Given the description of an element on the screen output the (x, y) to click on. 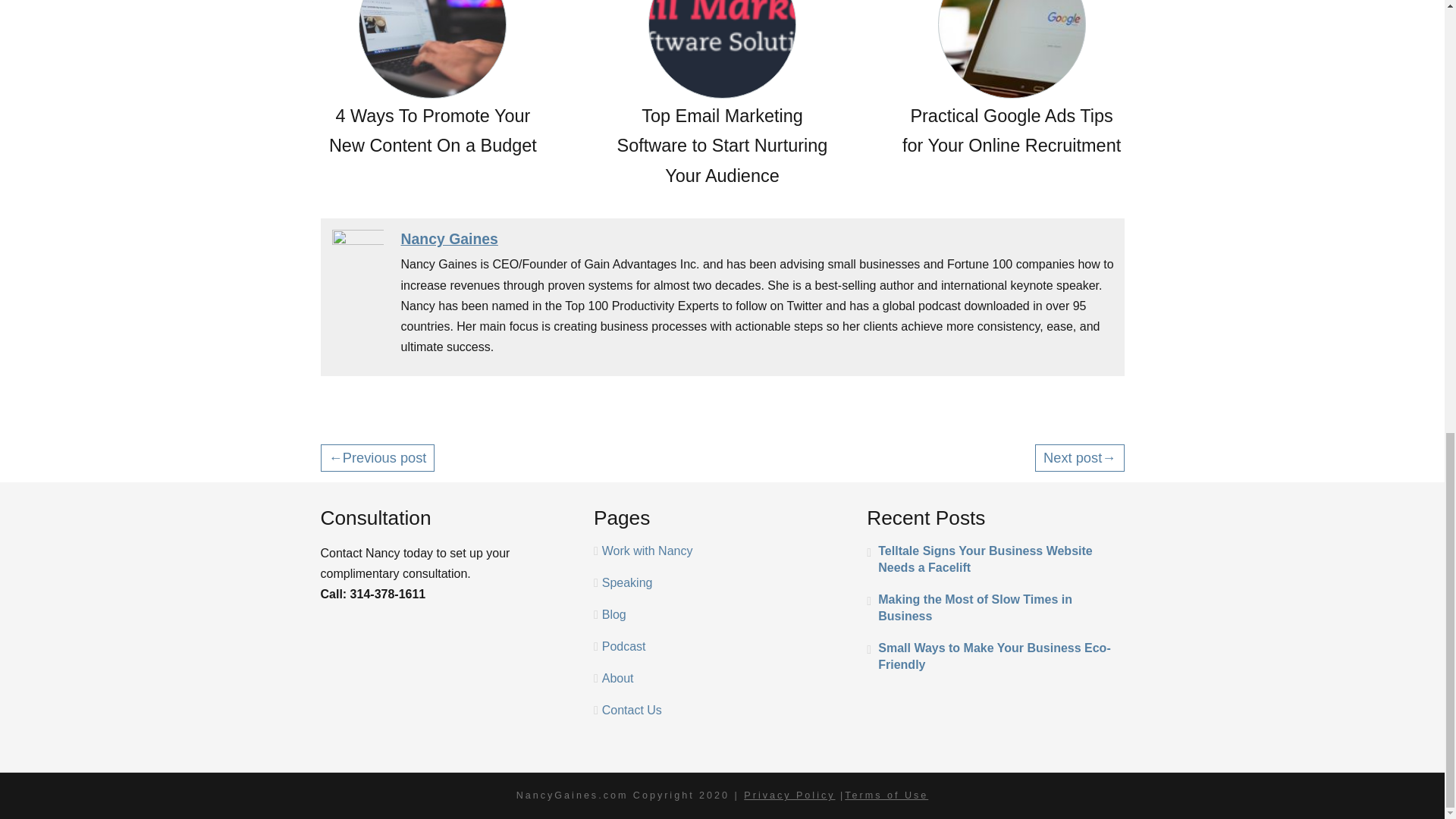
Contact Us (632, 709)
Nancy Gaines (448, 238)
Practical Google Ads Tips for Your Online Recruitment (1011, 81)
Terms of Use (886, 795)
Small Ways to Make Your Business Eco-Friendly (995, 656)
Blog (614, 614)
Telltale Signs Your Business Website Needs a Facelift (995, 559)
Work with Nancy (647, 550)
Speaking (627, 582)
Podcast (624, 645)
About (617, 677)
Making the Most of Slow Times in Business (995, 607)
Privacy Policy (789, 795)
4 Ways To Promote Your New Content On a Budget (432, 81)
